Given the description of an element on the screen output the (x, y) to click on. 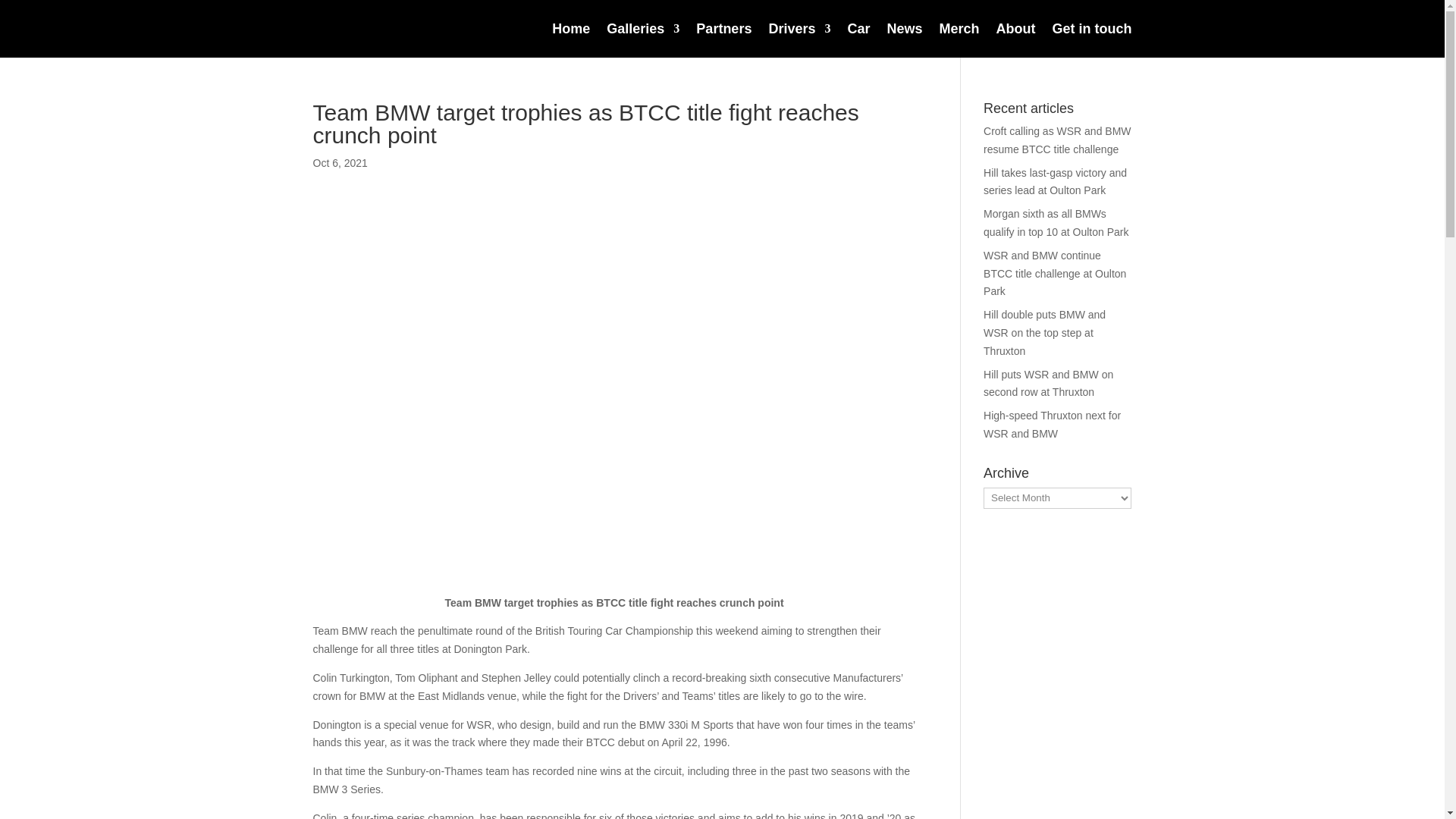
News (903, 28)
Morgan sixth as all BMWs qualify in top 10 at Oulton Park (1056, 223)
WSR and BMW continue BTCC title challenge at Oulton Park (1054, 273)
Merch (958, 28)
High-speed Thruxton next for WSR and BMW (1052, 424)
Hill takes last-gasp victory and series lead at Oulton Park (1055, 182)
Croft calling as WSR and BMW resume BTCC title challenge (1057, 140)
Car (858, 28)
Galleries (643, 28)
Get in touch (1092, 28)
Hill double puts BMW and WSR on the top step at Thruxton (1044, 332)
About (1015, 28)
Home (570, 28)
Partners (723, 28)
Drivers (798, 28)
